Given the description of an element on the screen output the (x, y) to click on. 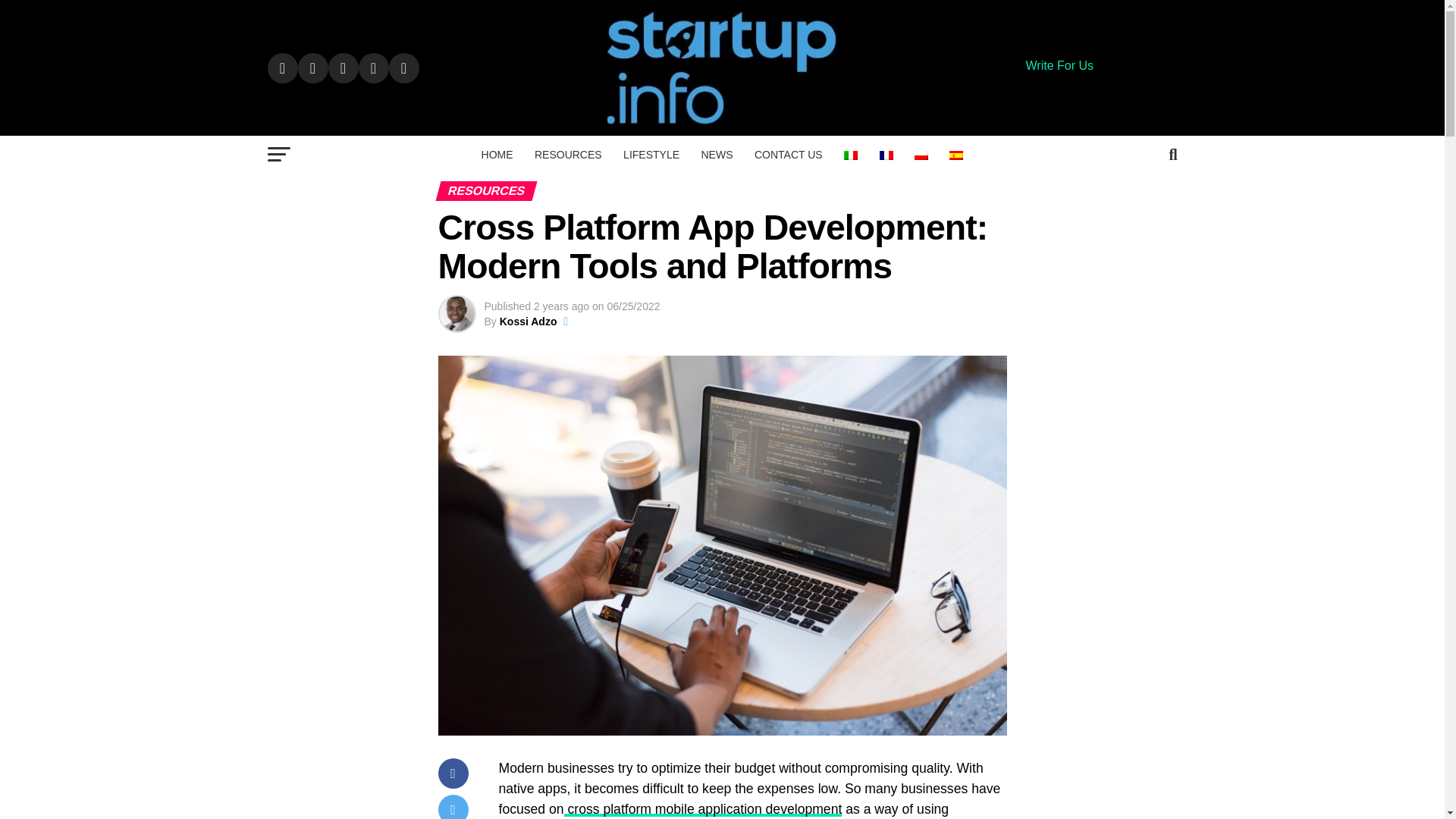
NEWS (716, 154)
LIFESTYLE (651, 154)
RESOURCES (568, 154)
HOME (496, 154)
Write For Us (1059, 65)
